Given the description of an element on the screen output the (x, y) to click on. 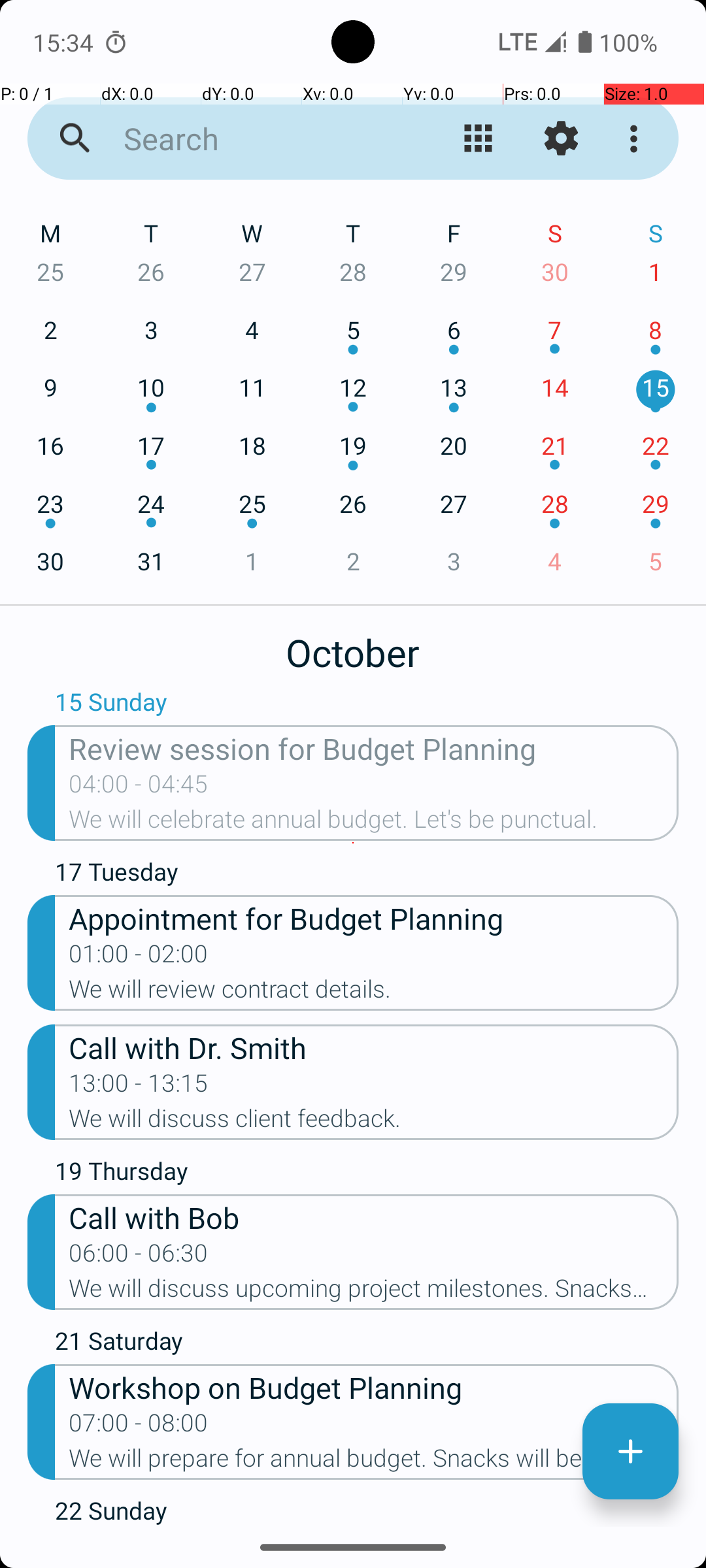
17 Tuesday Element type: android.widget.TextView (366, 874)
19 Thursday Element type: android.widget.TextView (366, 1173)
21 Saturday Element type: android.widget.TextView (366, 1343)
22 Sunday Element type: android.widget.TextView (366, 1509)
04:00 - 04:45 Element type: android.widget.TextView (137, 787)
We will celebrate annual budget. Let's be punctual. Element type: android.widget.TextView (373, 822)
01:00 - 02:00 Element type: android.widget.TextView (137, 957)
We will review contract details. Element type: android.widget.TextView (373, 992)
13:00 - 13:15 Element type: android.widget.TextView (137, 1086)
We will discuss client feedback. Element type: android.widget.TextView (373, 1122)
Call with Bob Element type: android.widget.TextView (373, 1216)
06:00 - 06:30 Element type: android.widget.TextView (137, 1256)
We will discuss upcoming project milestones. Snacks will be provided. Element type: android.widget.TextView (373, 1291)
Workshop on Budget Planning Element type: android.widget.TextView (373, 1386)
07:00 - 08:00 Element type: android.widget.TextView (137, 1426)
We will prepare for annual budget. Snacks will be provided. Element type: android.widget.TextView (373, 1461)
